Given the description of an element on the screen output the (x, y) to click on. 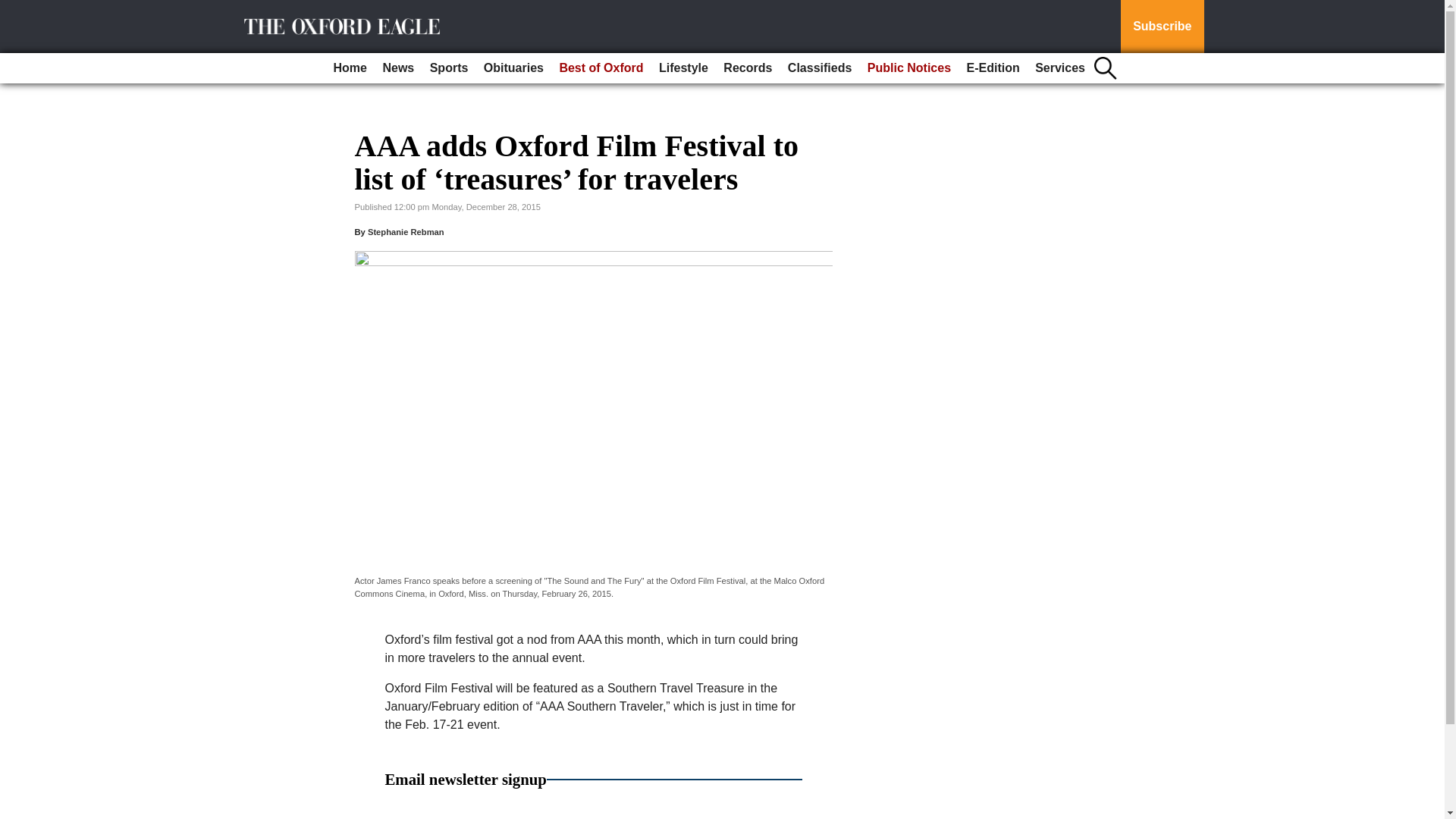
Go (13, 9)
Stephanie Rebman (406, 231)
Lifestyle (683, 68)
Home (349, 68)
Subscribe (1162, 26)
News (397, 68)
Services (1059, 68)
Classifieds (819, 68)
Best of Oxford (601, 68)
Public Notices (908, 68)
